Given the description of an element on the screen output the (x, y) to click on. 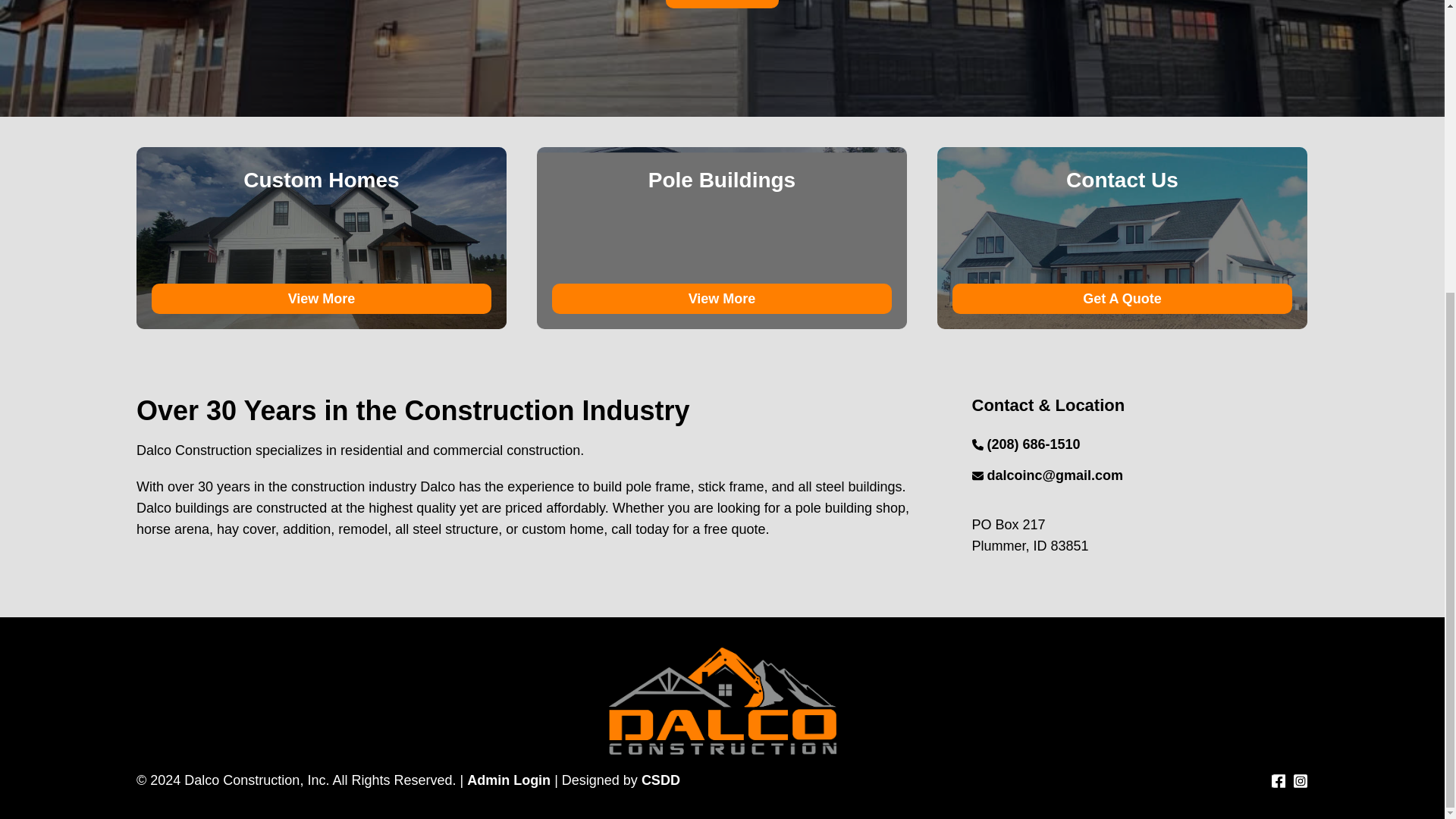
View More (721, 298)
Get A Quote (1122, 298)
Get A Quote! (721, 3)
CSDD (660, 780)
View More (321, 298)
Facebook (1278, 780)
Admin Login (508, 780)
